Given the description of an element on the screen output the (x, y) to click on. 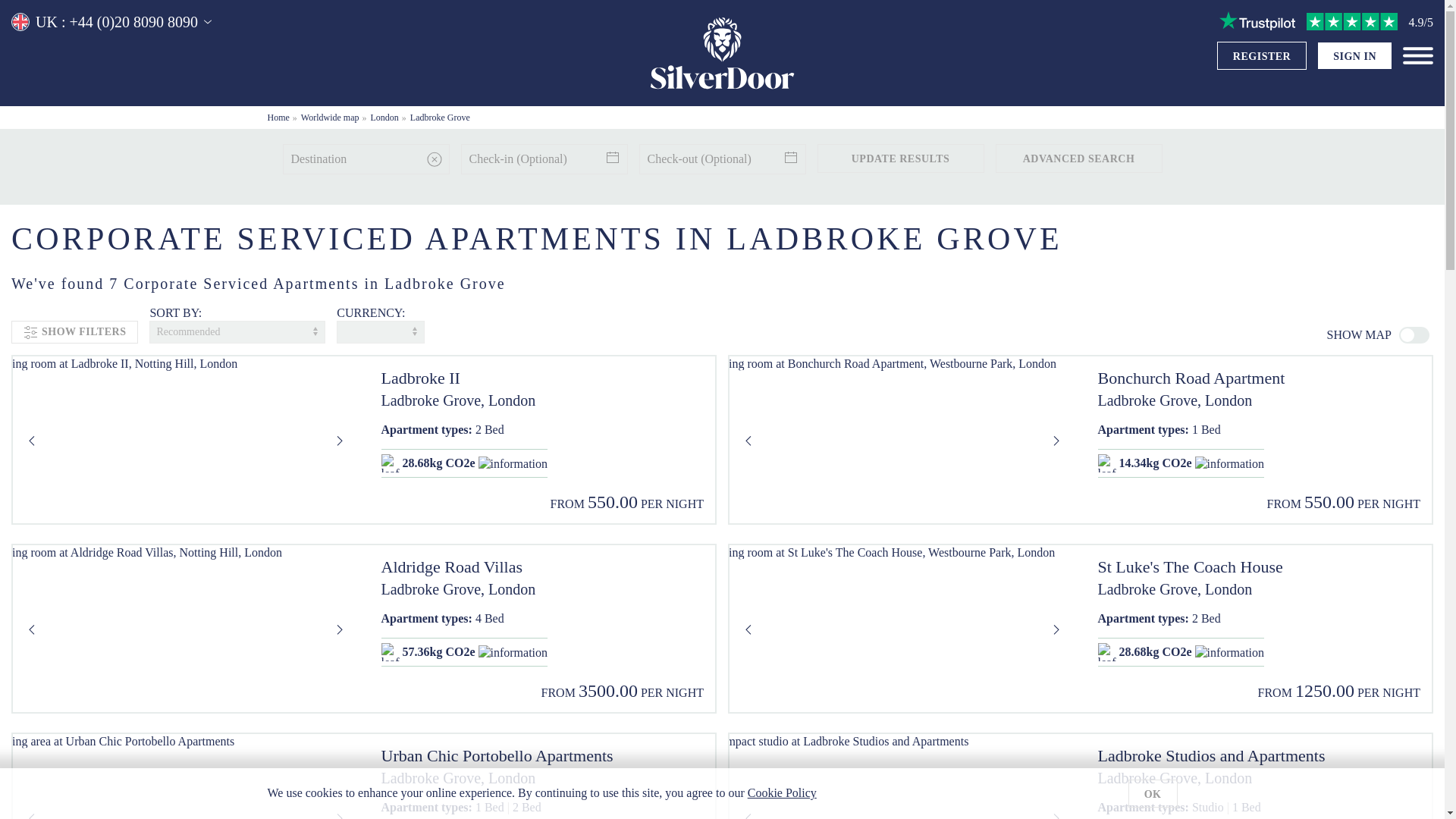
Urban Chic Portobello Apartments (541, 756)
Ladbroke Studios and Apartments (1259, 756)
St Luke's The Coach House (1259, 567)
Ladbroke II (541, 378)
Update Results (900, 158)
ADVANCED SEARCH (1077, 158)
Bonchurch Road Apartment (1259, 378)
REGISTER (1261, 55)
Aldridge Road Villas (541, 567)
SIGN IN (1354, 55)
Ladbroke Grove (440, 117)
SHOW FILTERS (74, 332)
Home (277, 117)
Worldwide map (330, 117)
Update Results (900, 158)
